Given the description of an element on the screen output the (x, y) to click on. 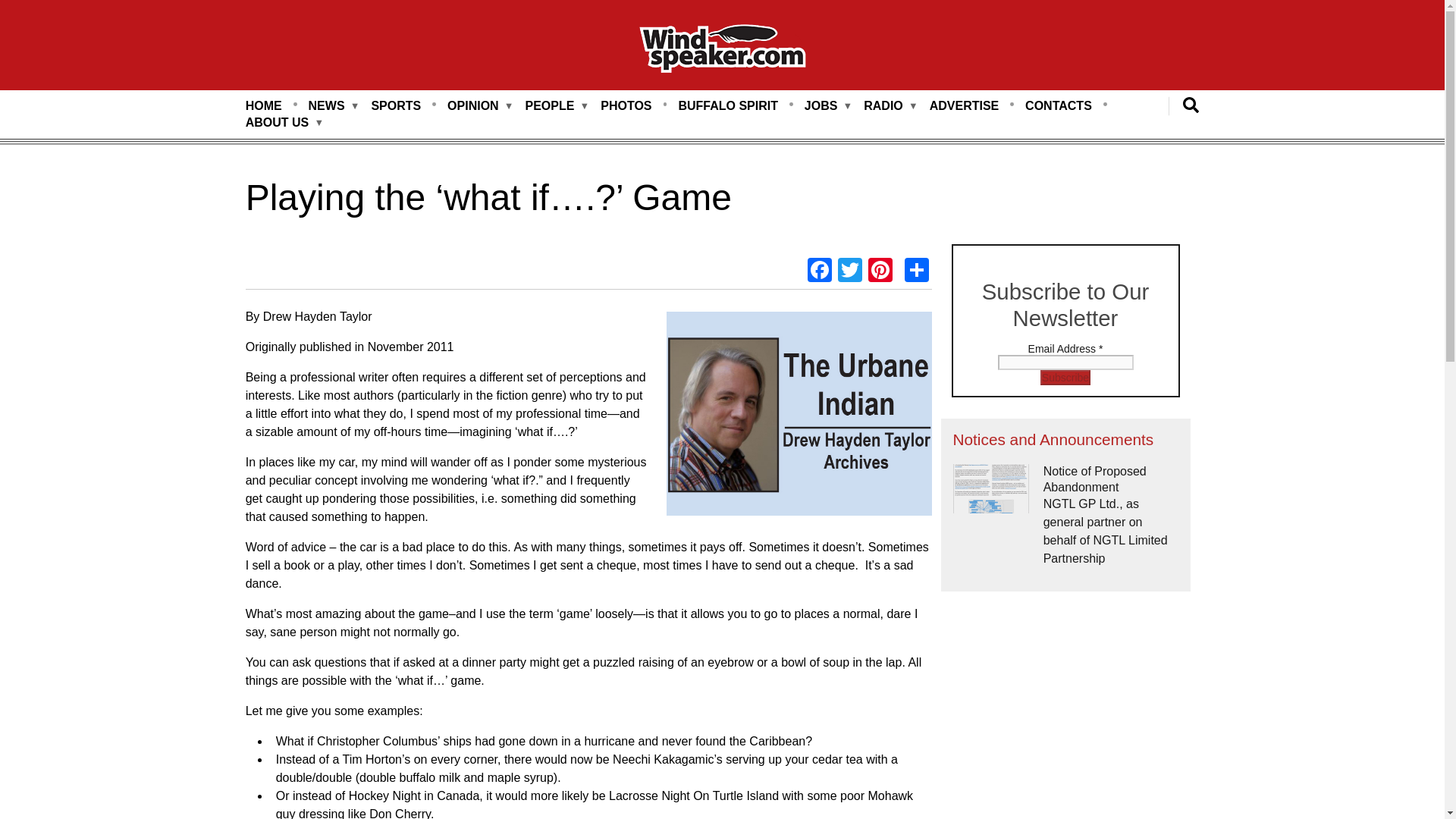
HOME (264, 105)
Home (722, 50)
Opinion (472, 105)
Photos (624, 105)
CONTACTS (1058, 105)
SPORTS (395, 105)
Radio Stations (882, 105)
Buffalo Spirit (727, 105)
BUFFALO SPIRIT (727, 105)
People (548, 105)
ADVERTISE (964, 105)
Sports (395, 105)
Employment Opportunities (821, 105)
PHOTOS (624, 105)
